Given the description of an element on the screen output the (x, y) to click on. 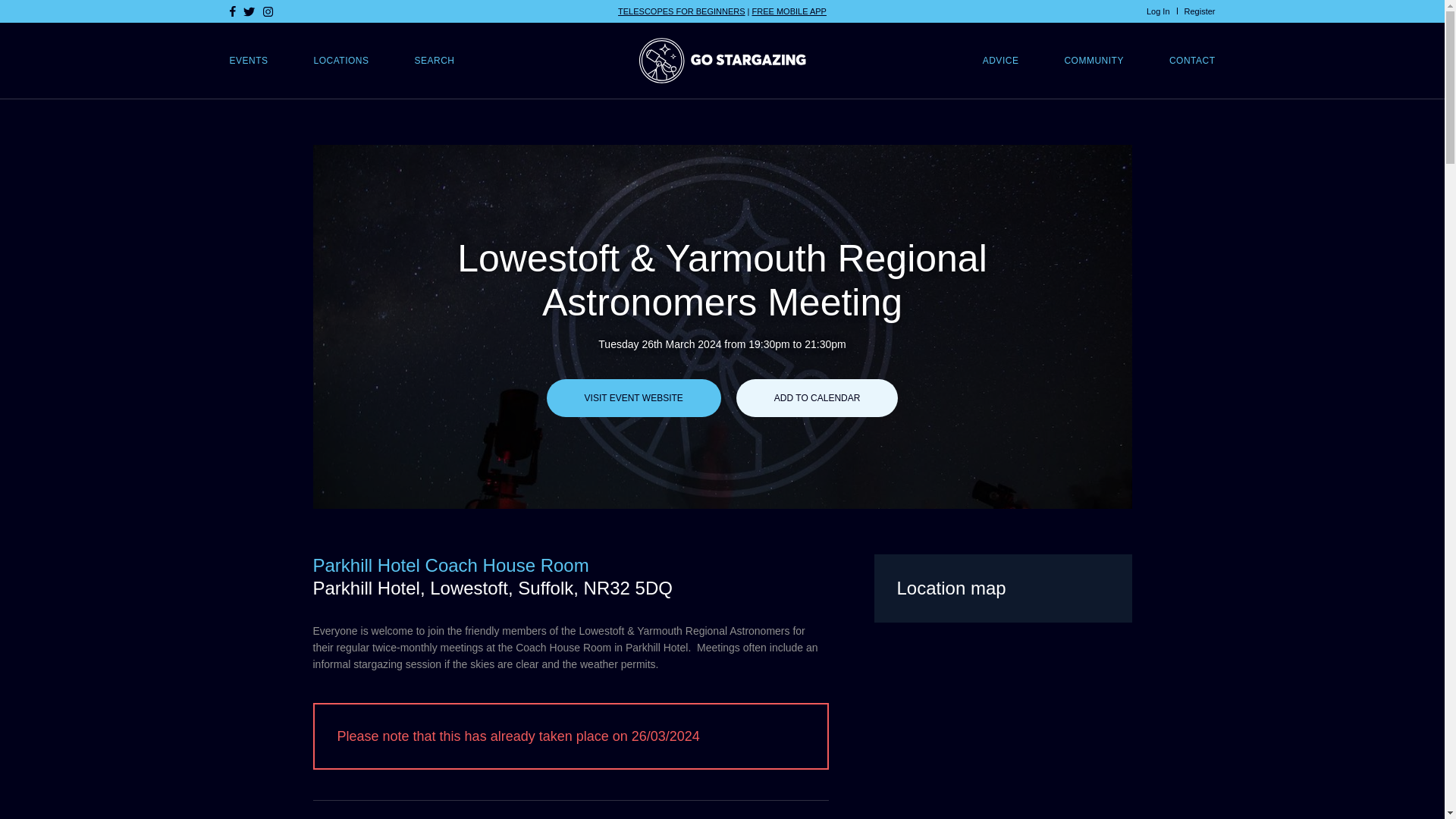
TELESCOPES FOR BEGINNERS (680, 11)
Register (1200, 10)
Twitter (248, 10)
FREE MOBILE APP (789, 11)
Log In (1158, 10)
Instagram (267, 10)
